Given the description of an element on the screen output the (x, y) to click on. 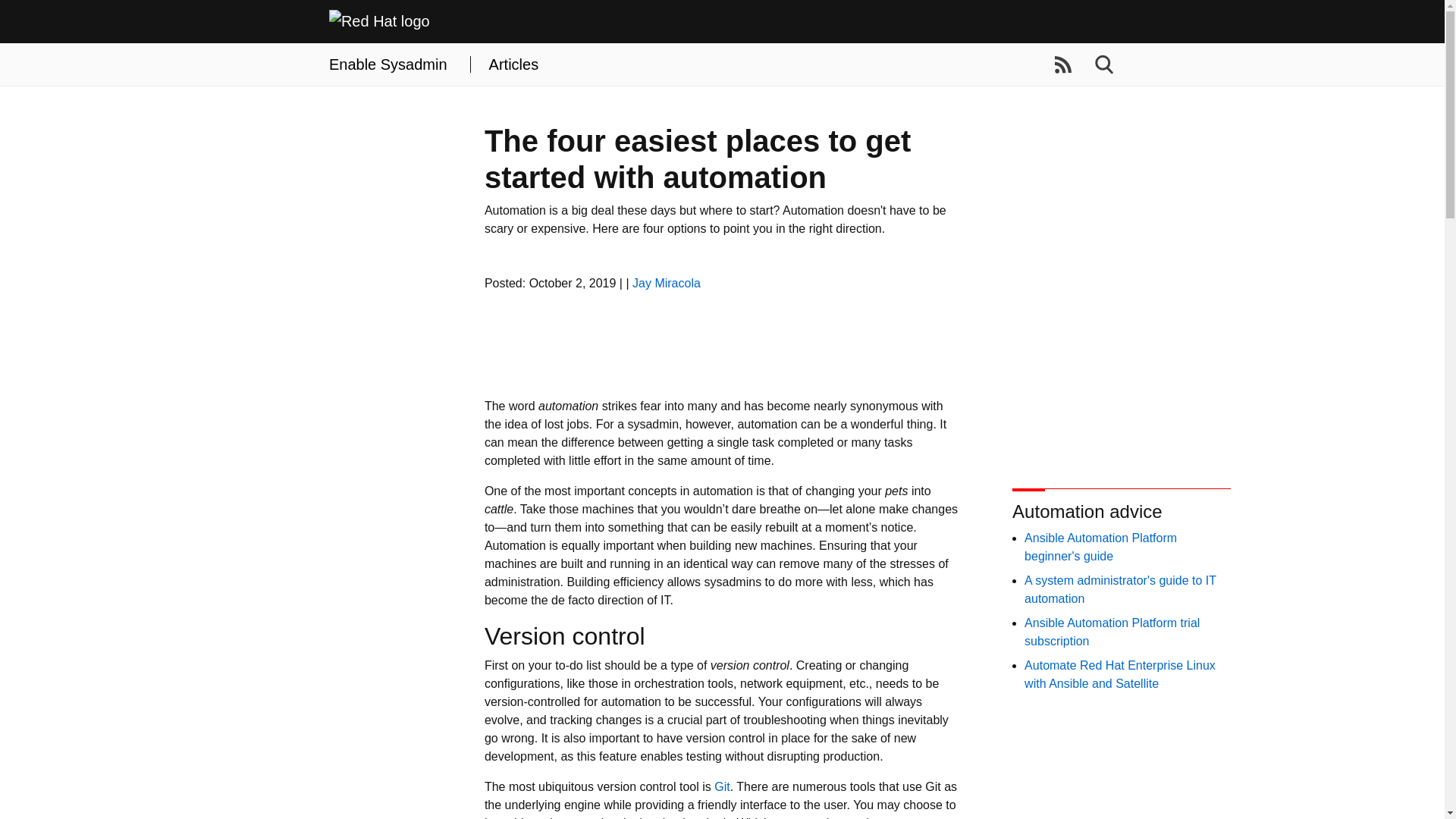
Git (721, 786)
Jay Miracola (665, 282)
Subscribe to our RSS feed or Email newsletter (1062, 64)
Ansible Automation Platform beginner's guide (1100, 546)
Automate Red Hat Enterprise Linux with Ansible and Satellite (1120, 674)
Articles (513, 64)
Enable Sysadmin (387, 64)
